Given the description of an element on the screen output the (x, y) to click on. 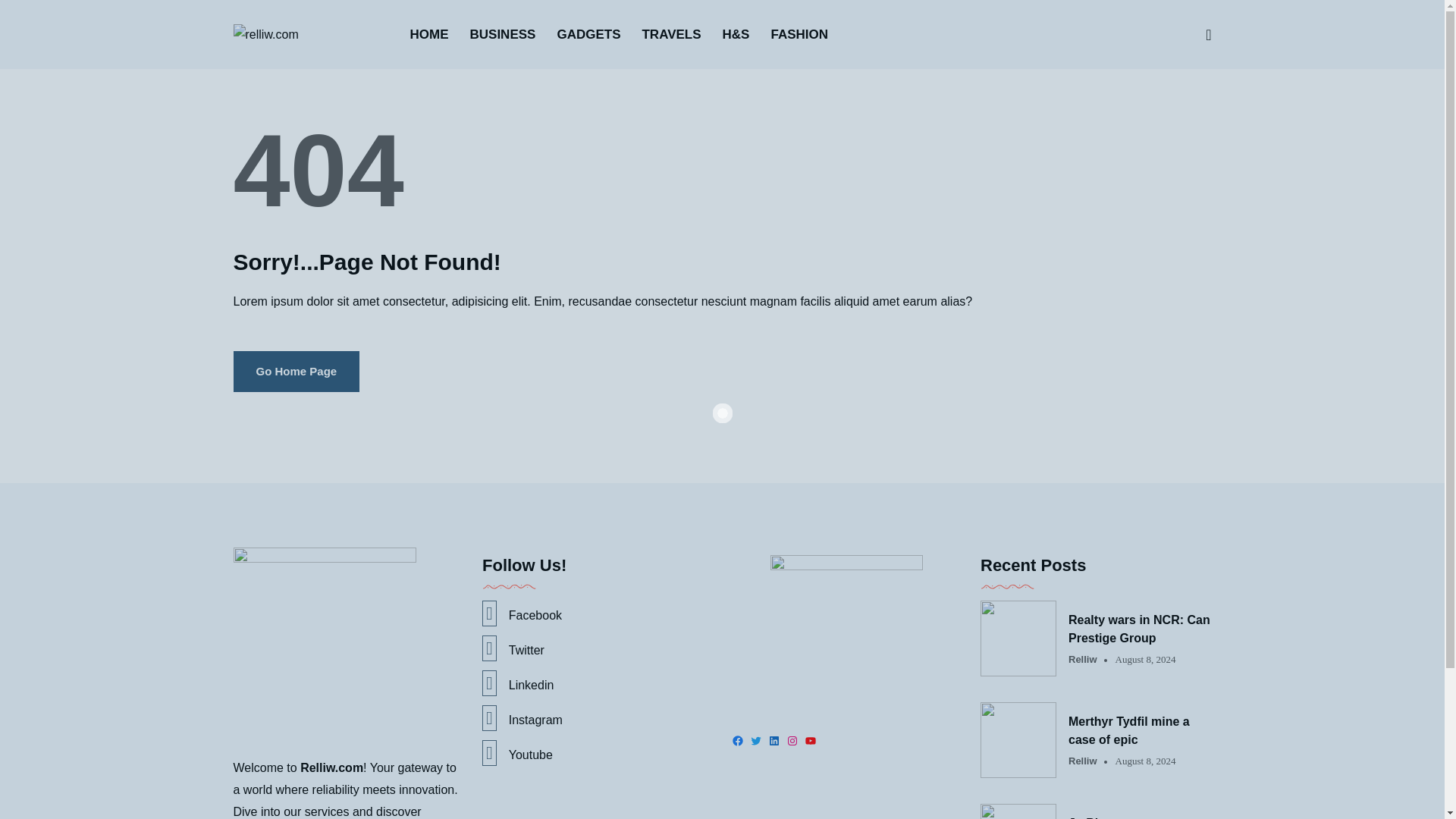
Go Home Page (295, 372)
Twitter (597, 647)
button-pintrest-1 (846, 631)
JetBlue teases upcoming premium product announcement (1139, 816)
BUSINESS (502, 33)
TRAVELS (671, 33)
Realty wars in NCR: Can Prestige Group (1139, 628)
GADGETS (588, 33)
Instagram (597, 718)
Linkedin (597, 683)
